Given the description of an element on the screen output the (x, y) to click on. 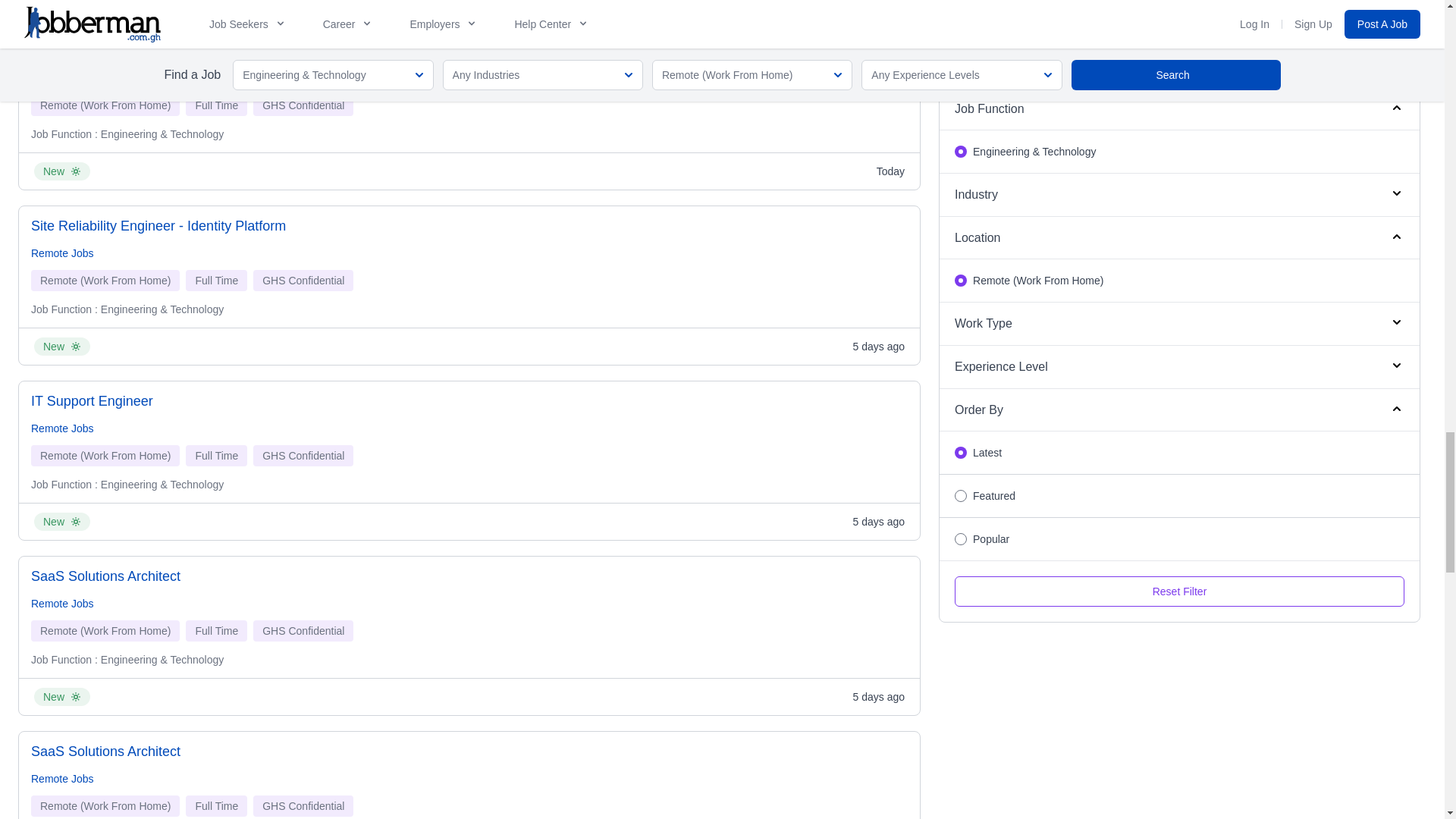
Site Reliability Engineer - Identity Platform (157, 225)
SaaS Solutions Architect (105, 576)
SaaS Solutions Architect (105, 751)
IT Support Engineer (91, 400)
DevOps Engineer (84, 50)
